Given the description of an element on the screen output the (x, y) to click on. 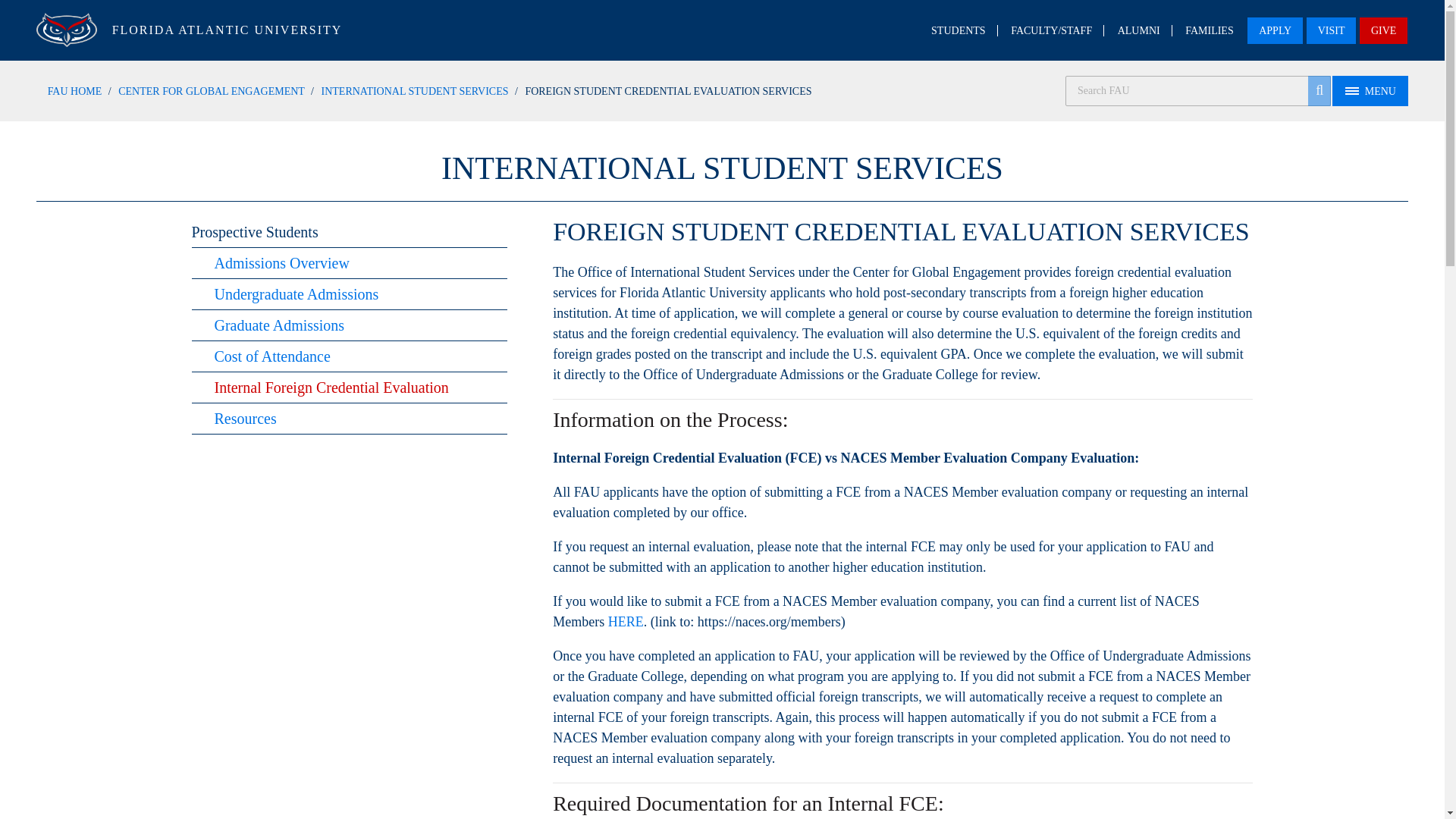
INTERNATIONAL STUDENT SERVICES (414, 91)
VISIT (1331, 29)
CENTER FOR GLOBAL ENGAGEMENT (210, 91)
APPLY (1275, 29)
Site Search (1197, 91)
GIVE (1383, 29)
STUDENTS (958, 30)
FAMILIES (1208, 30)
FAU HOME (74, 91)
ALUMNI (1139, 30)
